Given the description of an element on the screen output the (x, y) to click on. 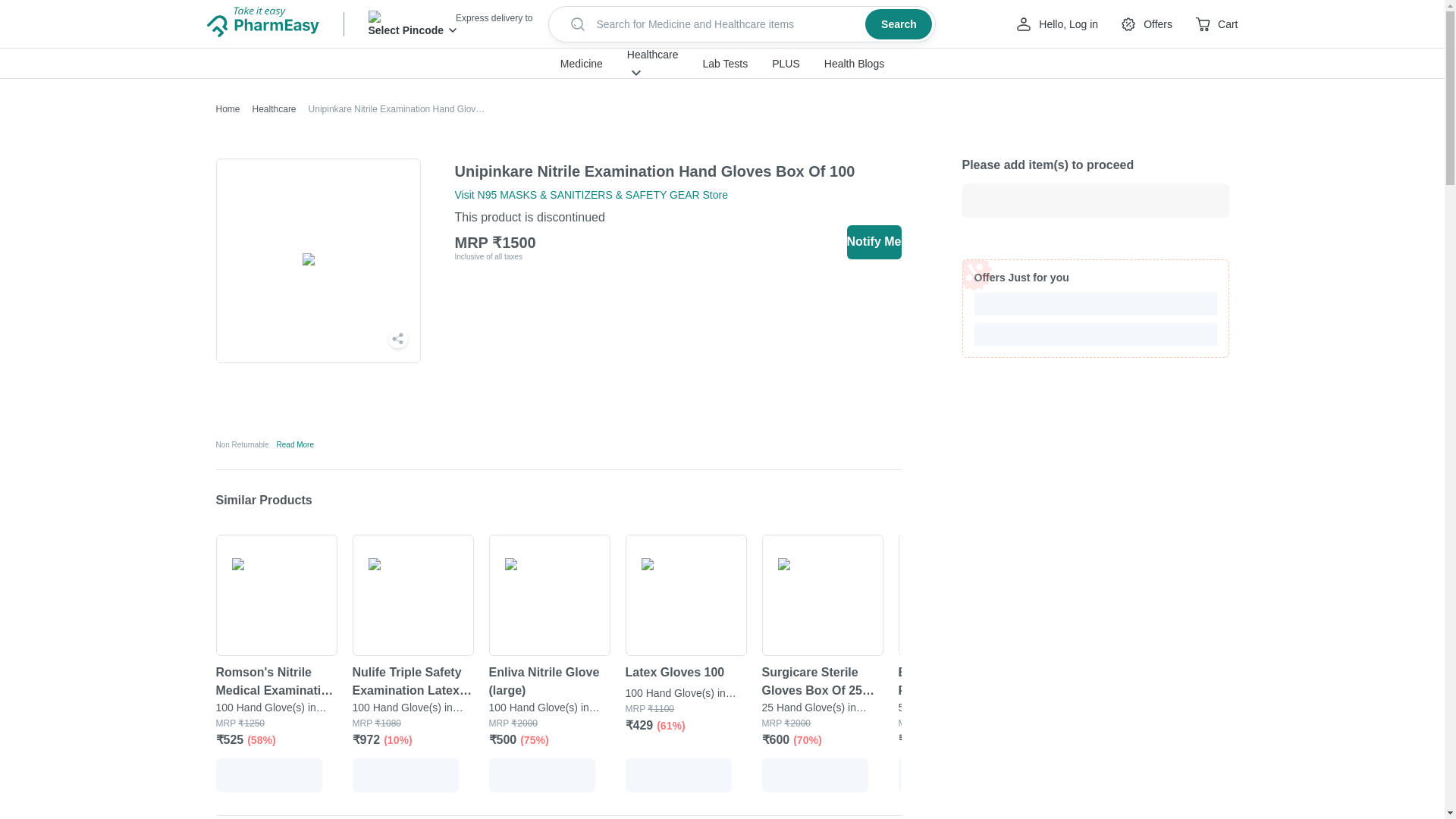
Cart (1215, 24)
Notify Me (873, 241)
Health Blogs (853, 63)
Offers (1145, 24)
Unipinkare  Nitrile Examination Hand Gloves  Box Of 100 (655, 171)
Home (227, 109)
Healthcare (268, 109)
Medicine (581, 63)
Lab Tests (725, 63)
Unipinkare Nitrile Examination Hand Gloves Box Of 100 (391, 109)
